Given the description of an element on the screen output the (x, y) to click on. 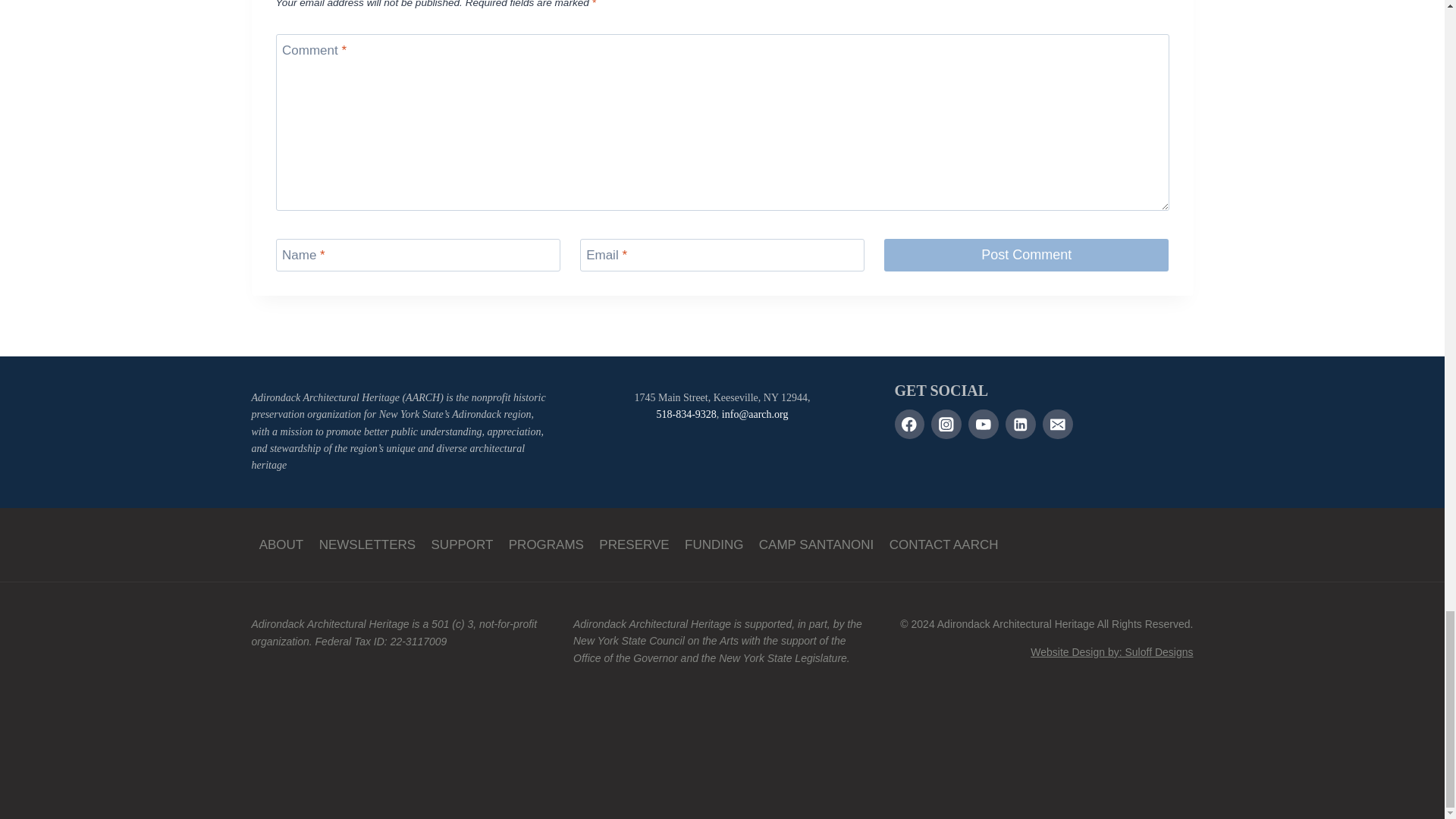
Post Comment (1026, 255)
